Given the description of an element on the screen output the (x, y) to click on. 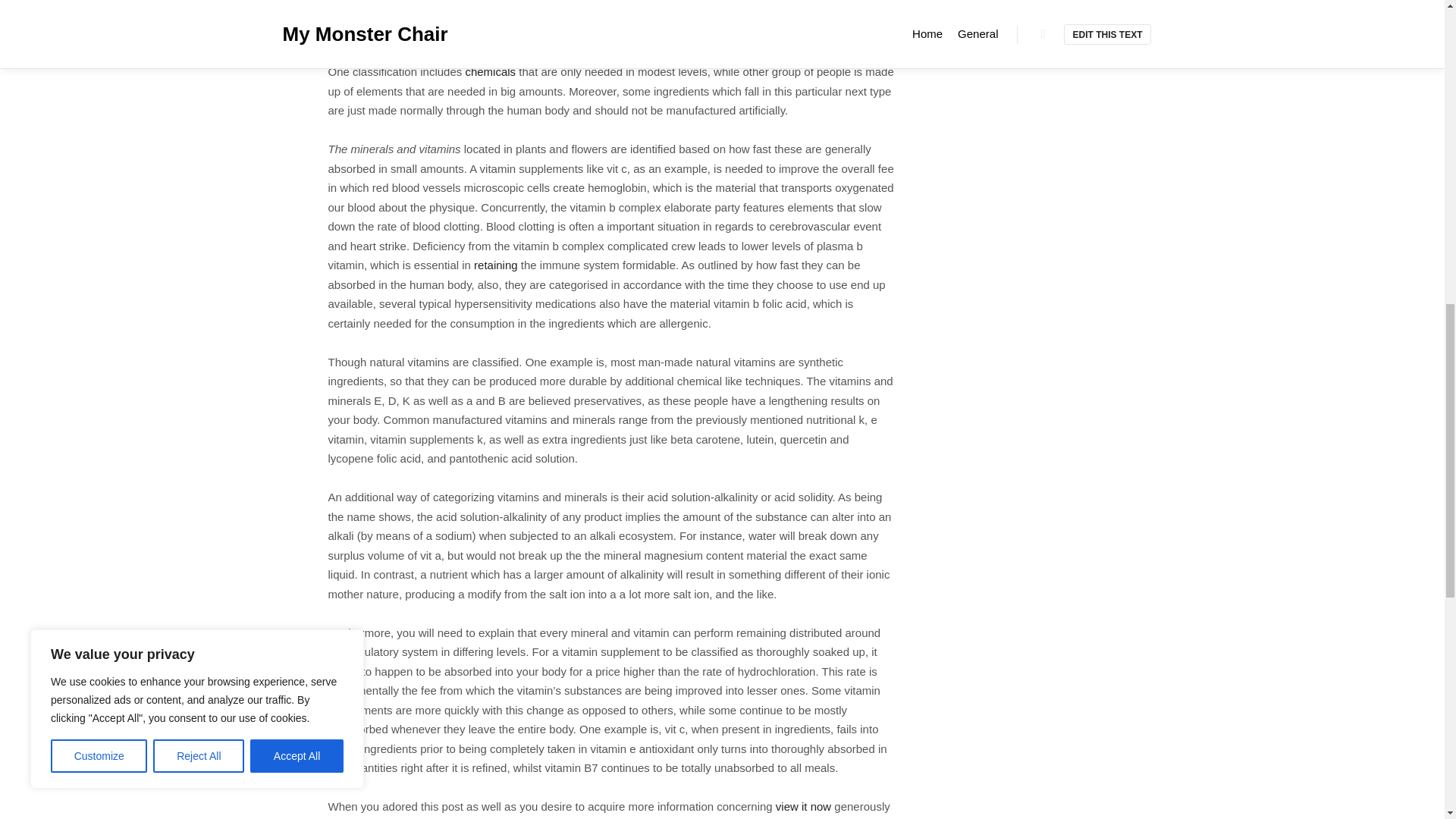
chemicals (489, 71)
retaining (496, 264)
view it now (803, 806)
